Given the description of an element on the screen output the (x, y) to click on. 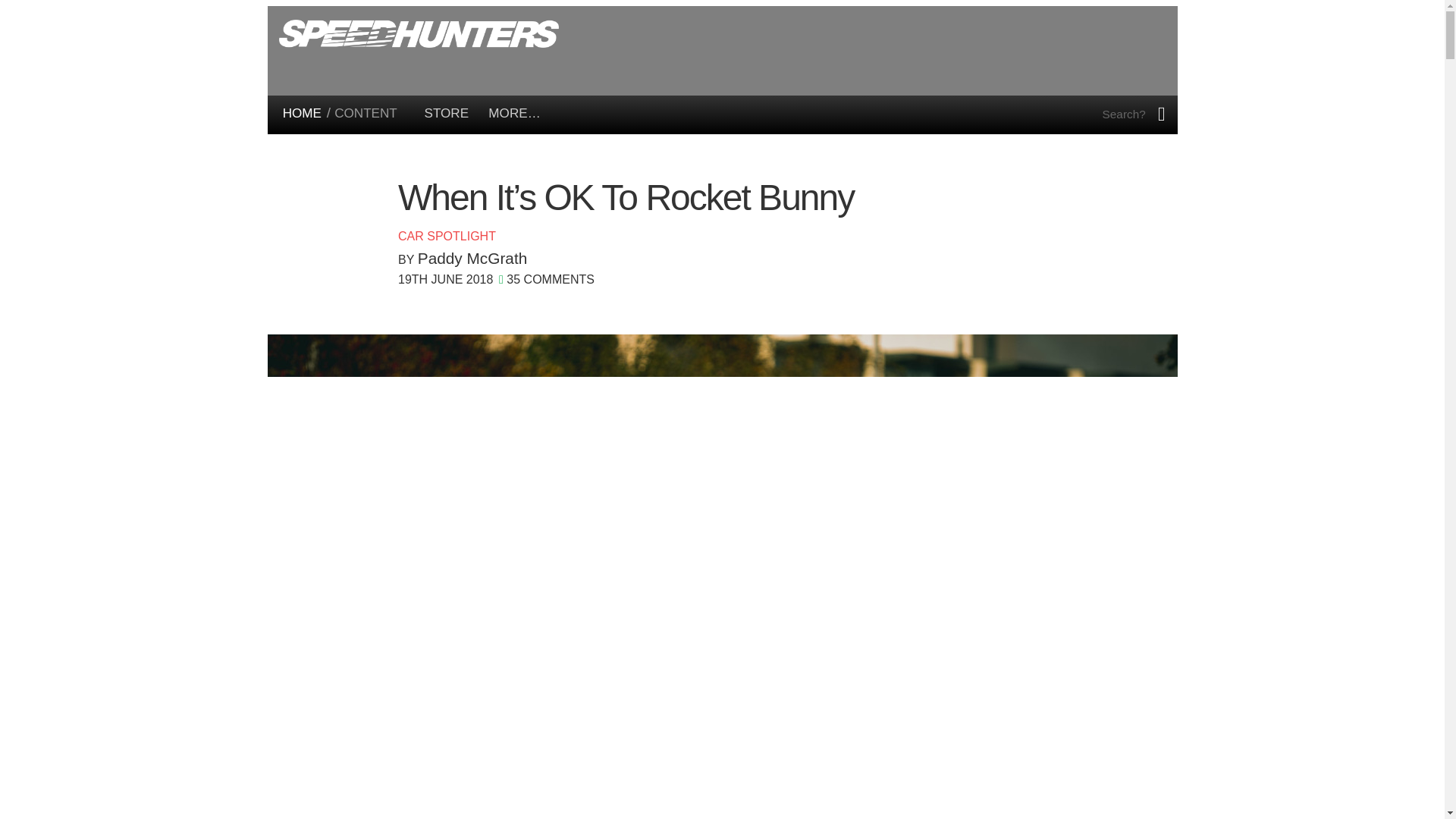
HOME (301, 113)
STORE (446, 113)
Posts by Paddy McGrath (472, 257)
CONTENT (365, 113)
